Given the description of an element on the screen output the (x, y) to click on. 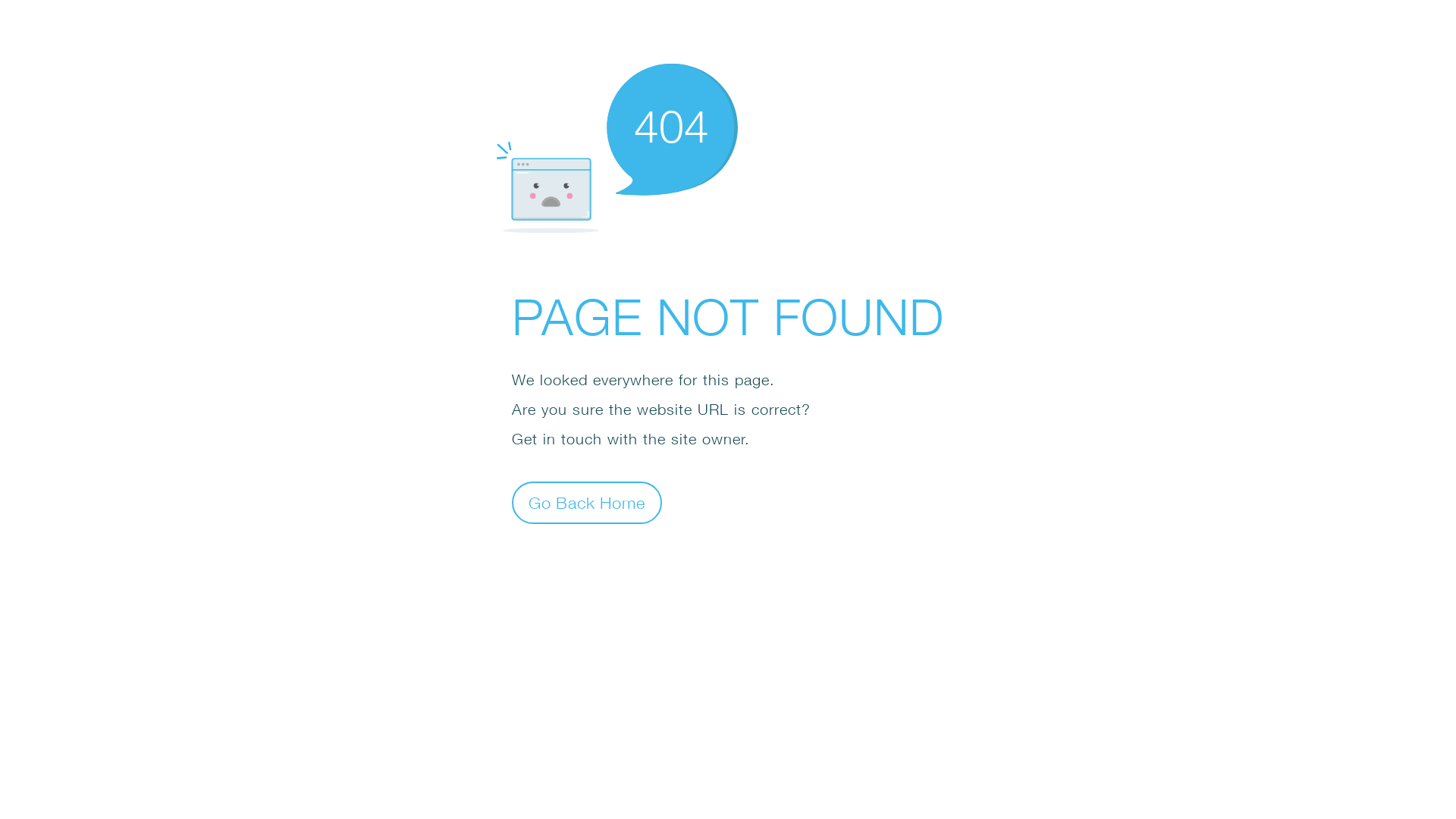
Go Back Home Element type: text (586, 502)
